Given the description of an element on the screen output the (x, y) to click on. 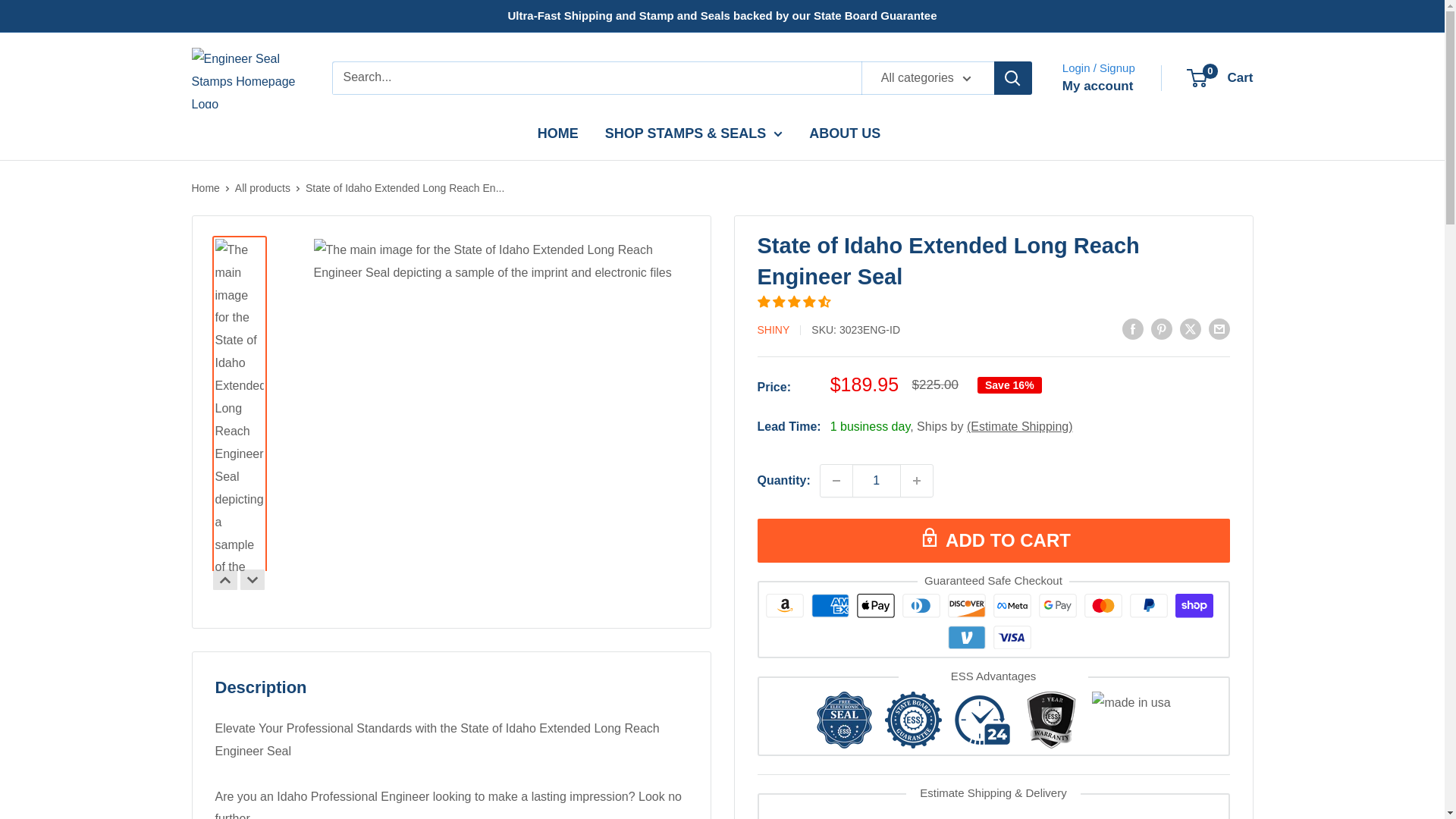
Amazon (784, 605)
1 (876, 480)
Increase quantity by 1 (917, 480)
American Express (829, 605)
Apple Pay (876, 605)
Decrease quantity by 1 (836, 480)
